Given the description of an element on the screen output the (x, y) to click on. 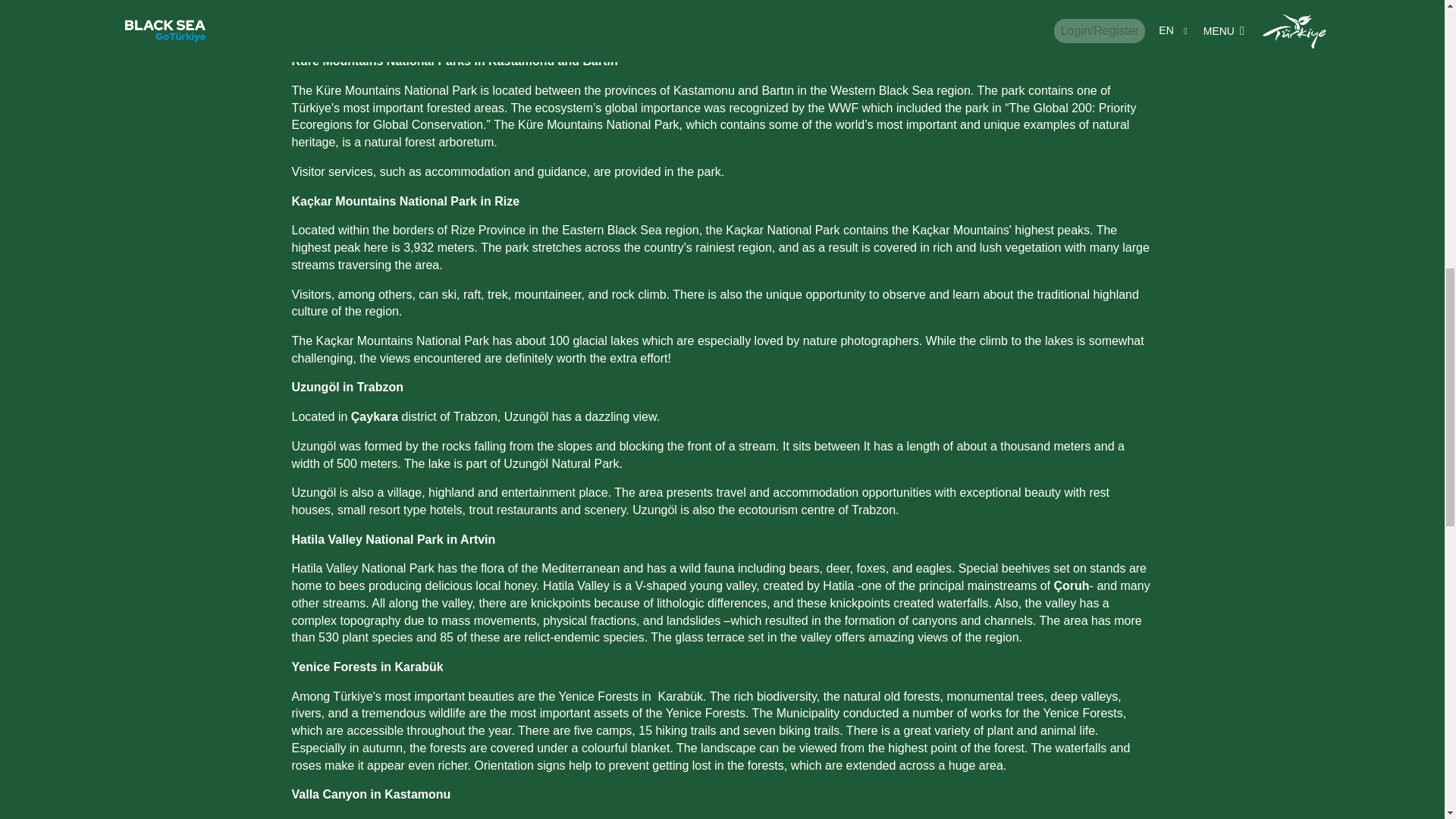
Ankara (676, 31)
